Given the description of an element on the screen output the (x, y) to click on. 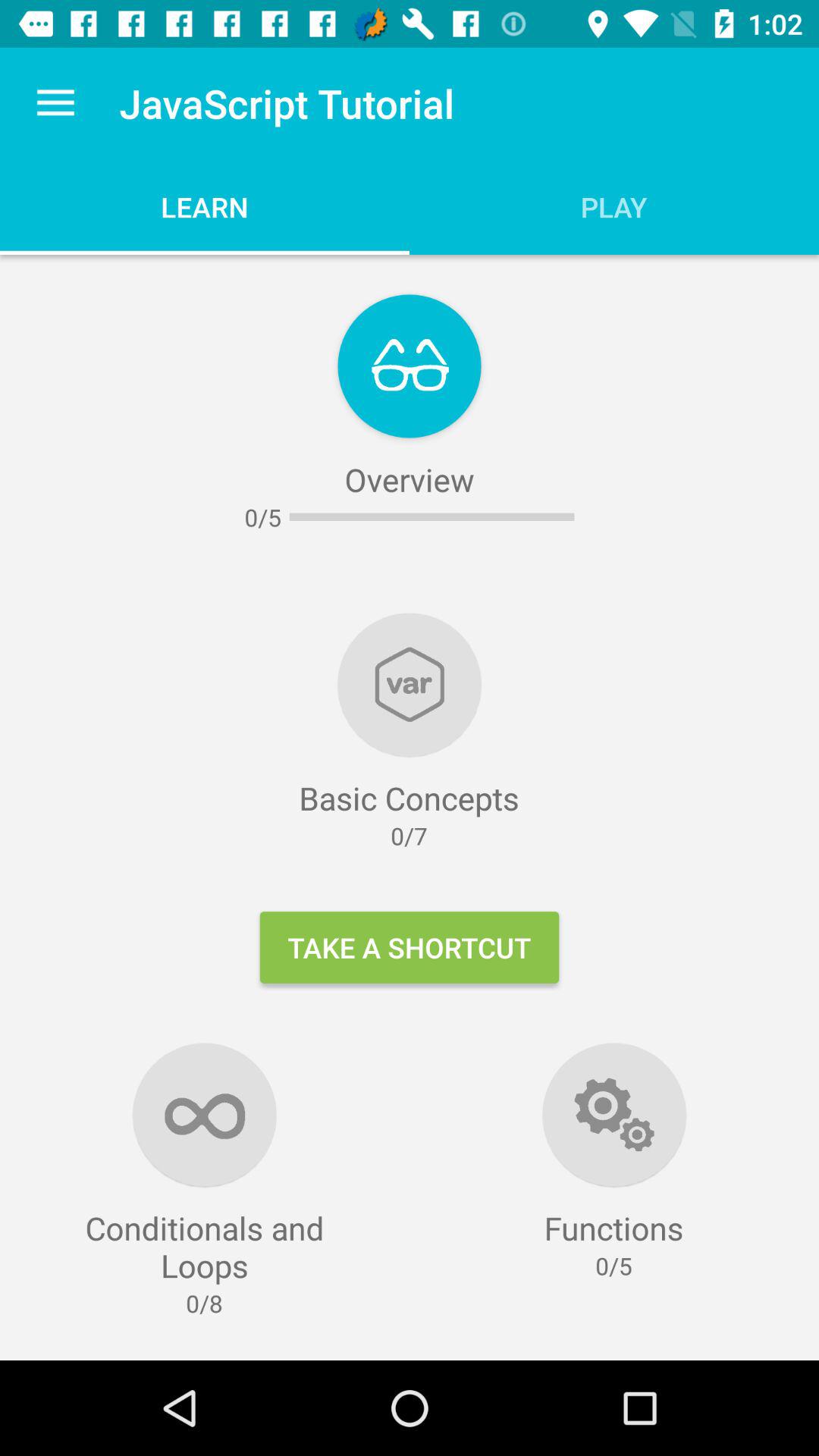
jump to take a shortcut icon (409, 947)
